Given the description of an element on the screen output the (x, y) to click on. 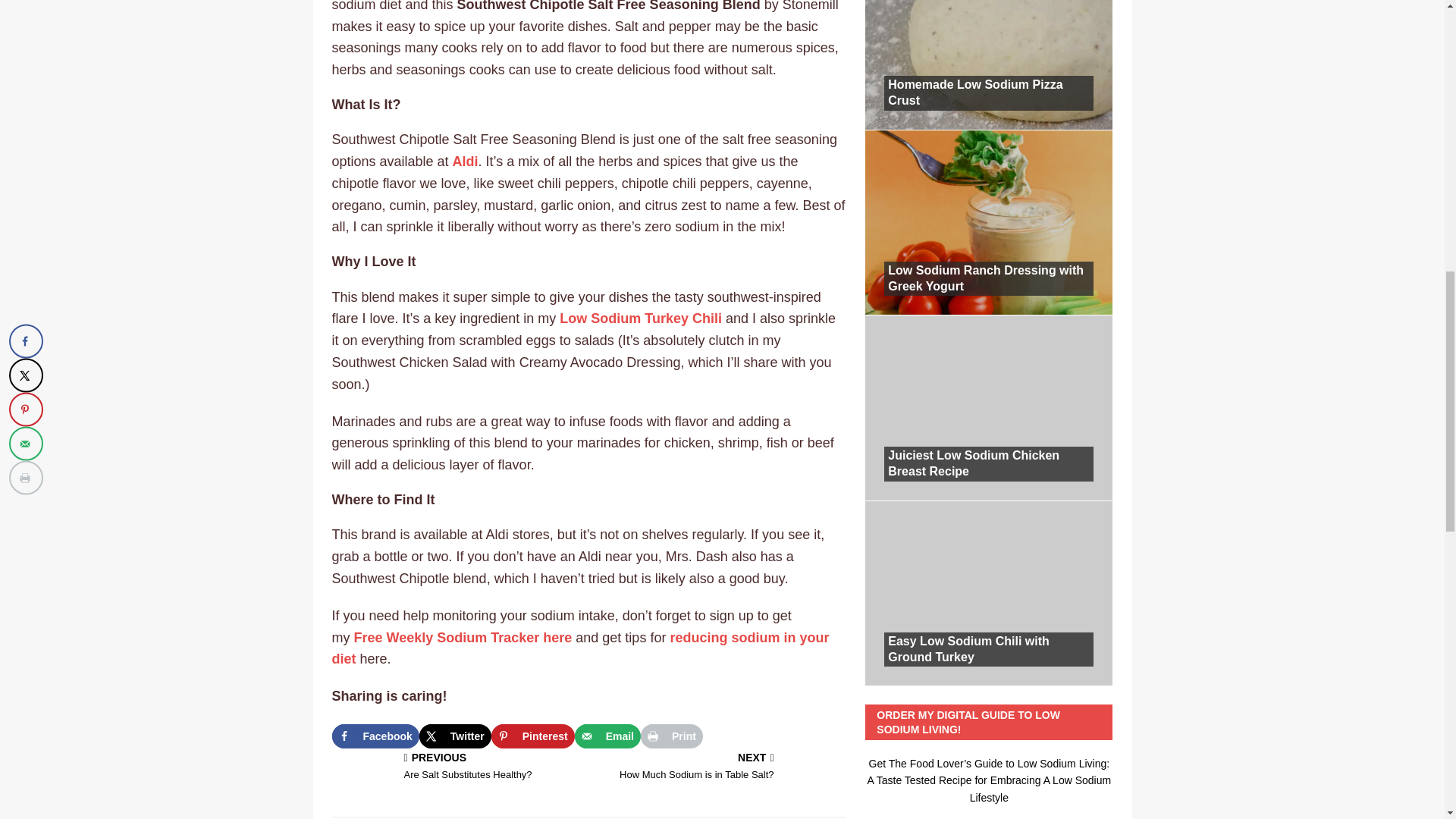
Free Weekly Sodium Tracker here (457, 767)
Print (462, 637)
Twitter (671, 735)
Pinterest (455, 735)
Email (533, 735)
Share on X (720, 767)
Send over email (607, 735)
reducing sodium in your diet (455, 735)
Aldi (607, 735)
Share on Facebook (580, 648)
Print this webpage (465, 160)
Facebook (375, 735)
Save to Pinterest (671, 735)
